Given the description of an element on the screen output the (x, y) to click on. 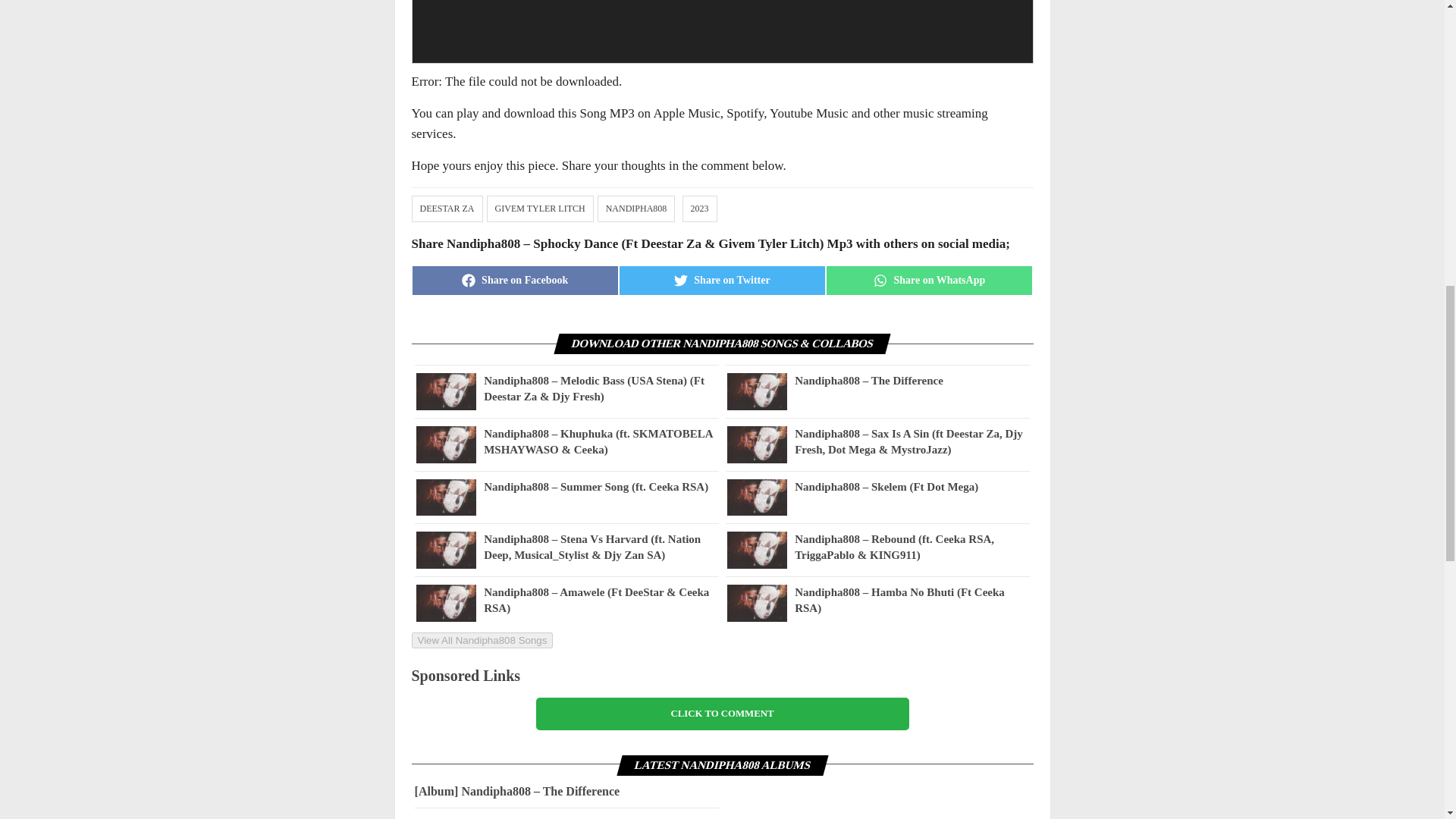
2023 (699, 208)
DEESTAR ZA (447, 208)
Share on Twitter (721, 280)
Share on Facebook! (513, 280)
Share on Facebook (513, 280)
Tweet this! (721, 280)
Share on WhatsApp (928, 280)
GIVEM TYLER LITCH (540, 208)
NANDIPHA808 (635, 208)
